Given the description of an element on the screen output the (x, y) to click on. 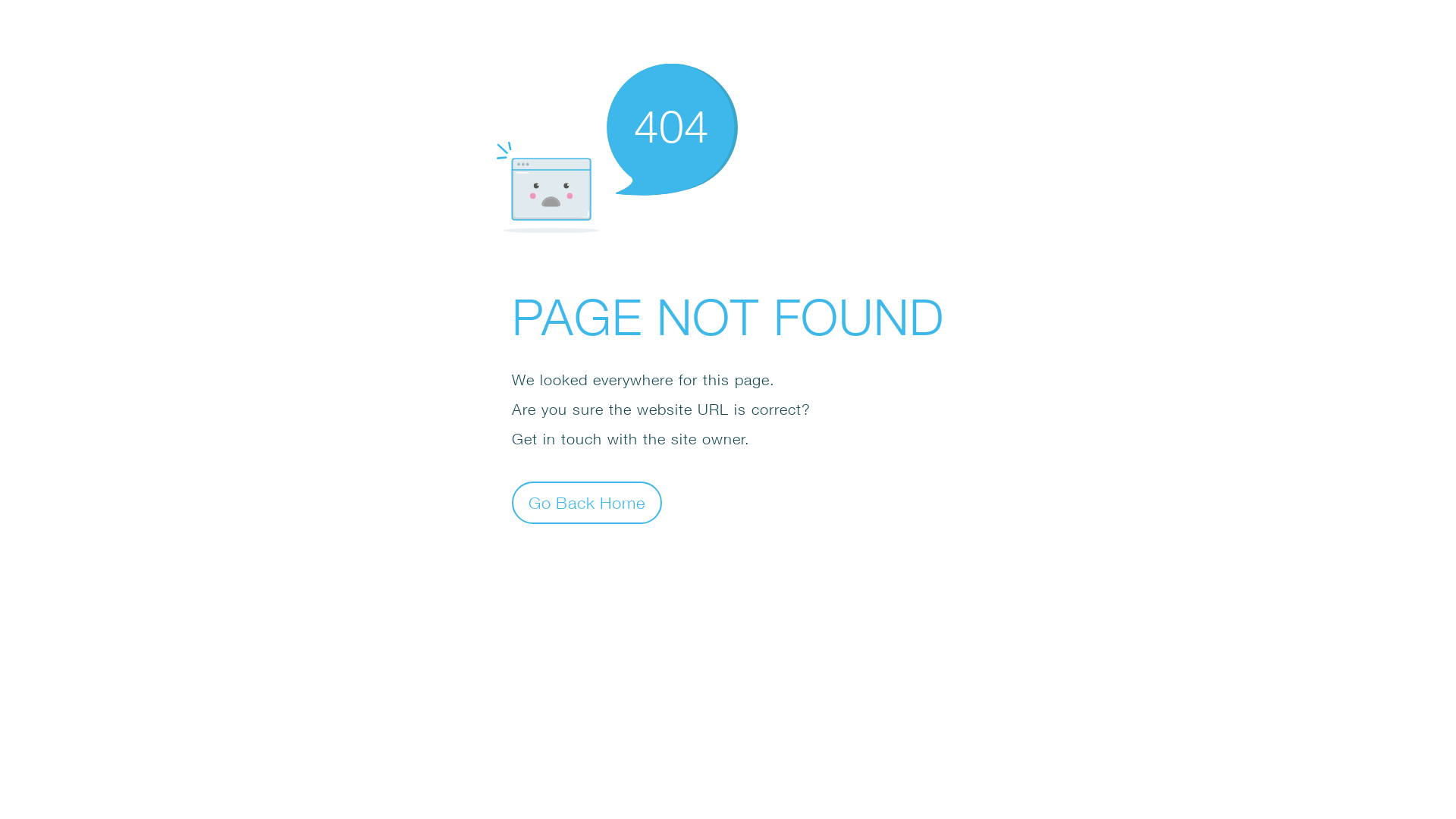
Go Back Home Element type: text (586, 502)
